Given the description of an element on the screen output the (x, y) to click on. 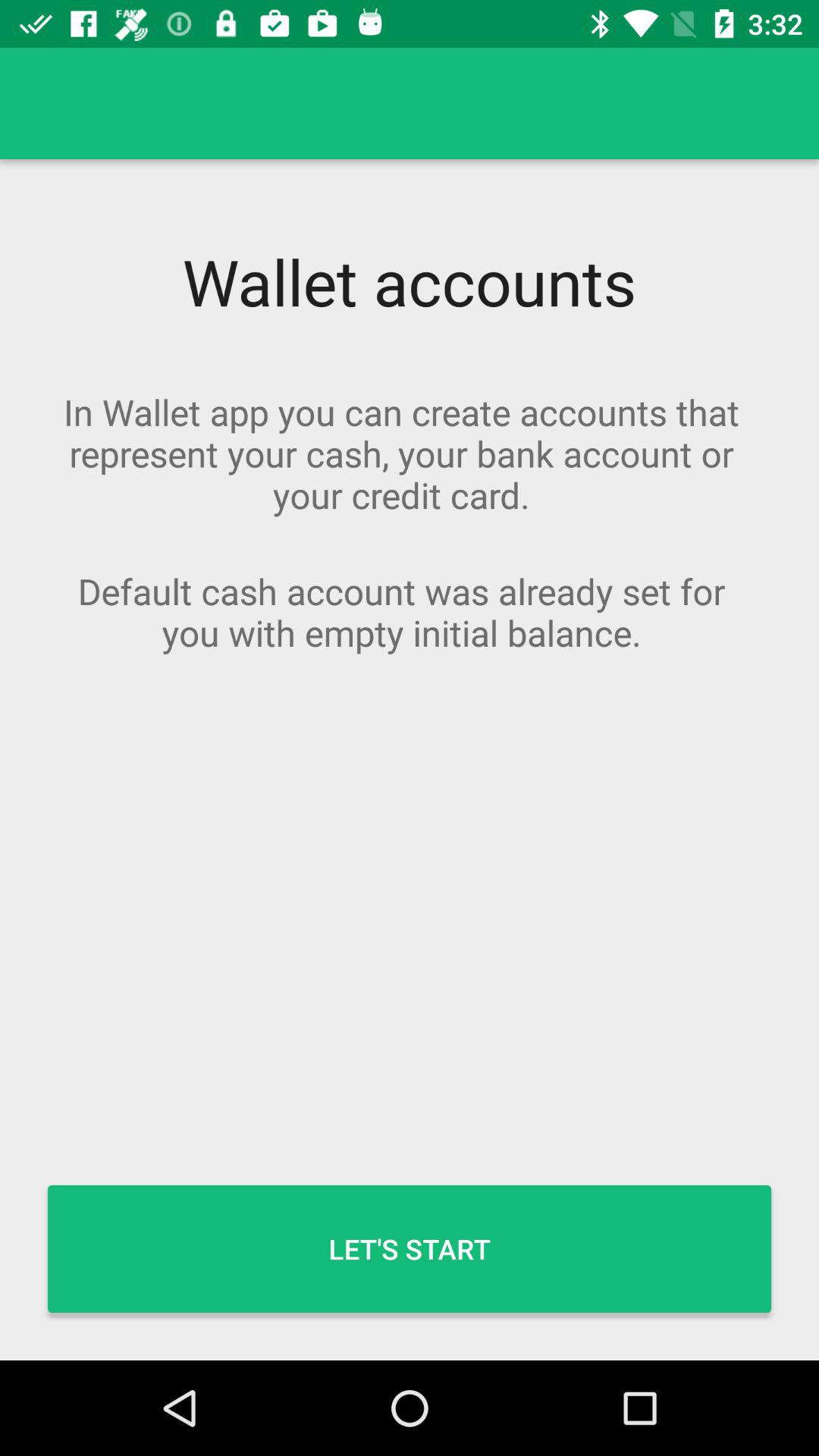
scroll until the let's start icon (409, 1248)
